Given the description of an element on the screen output the (x, y) to click on. 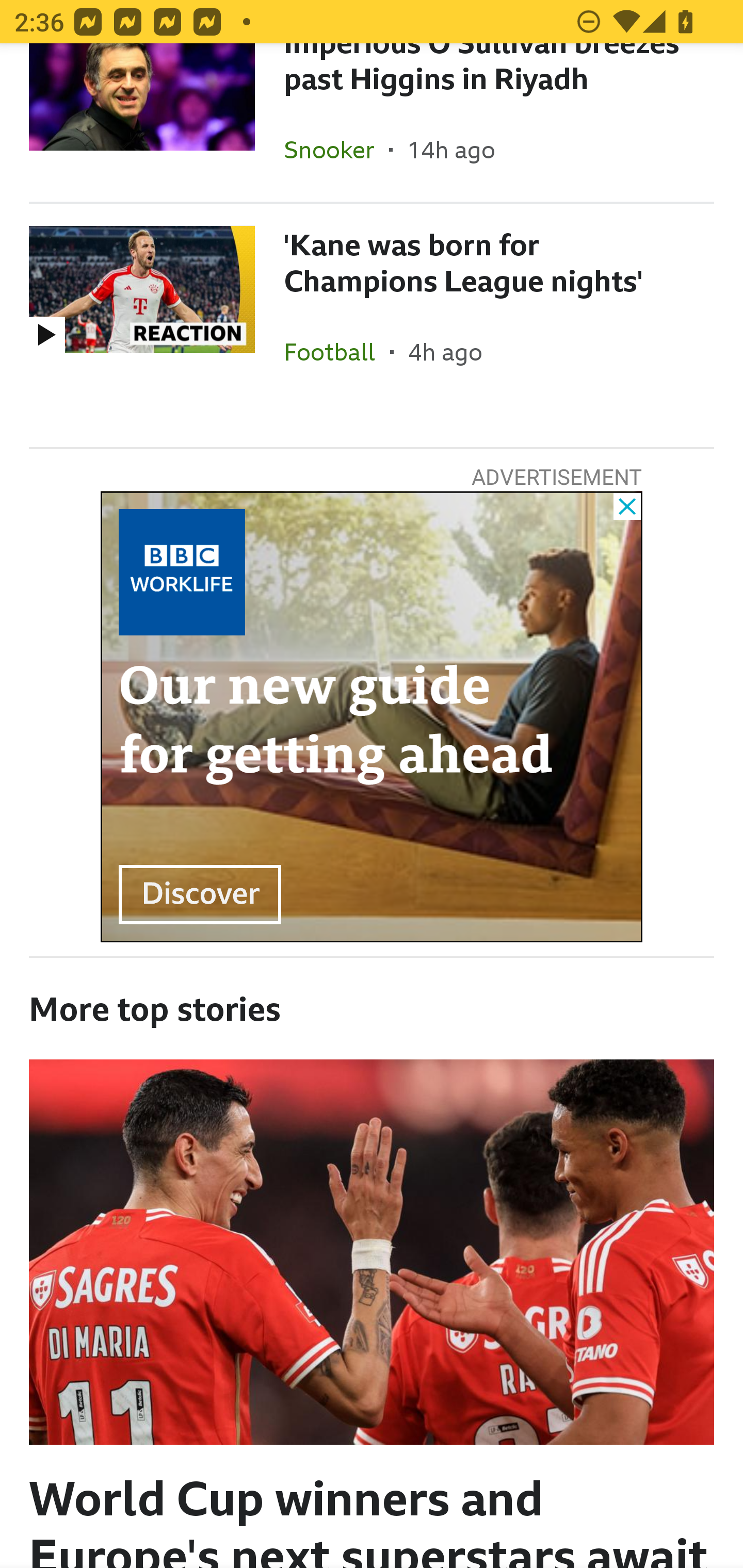
Snooker In the section Snooker (336, 149)
Football In the section Football (336, 351)
